Given the description of an element on the screen output the (x, y) to click on. 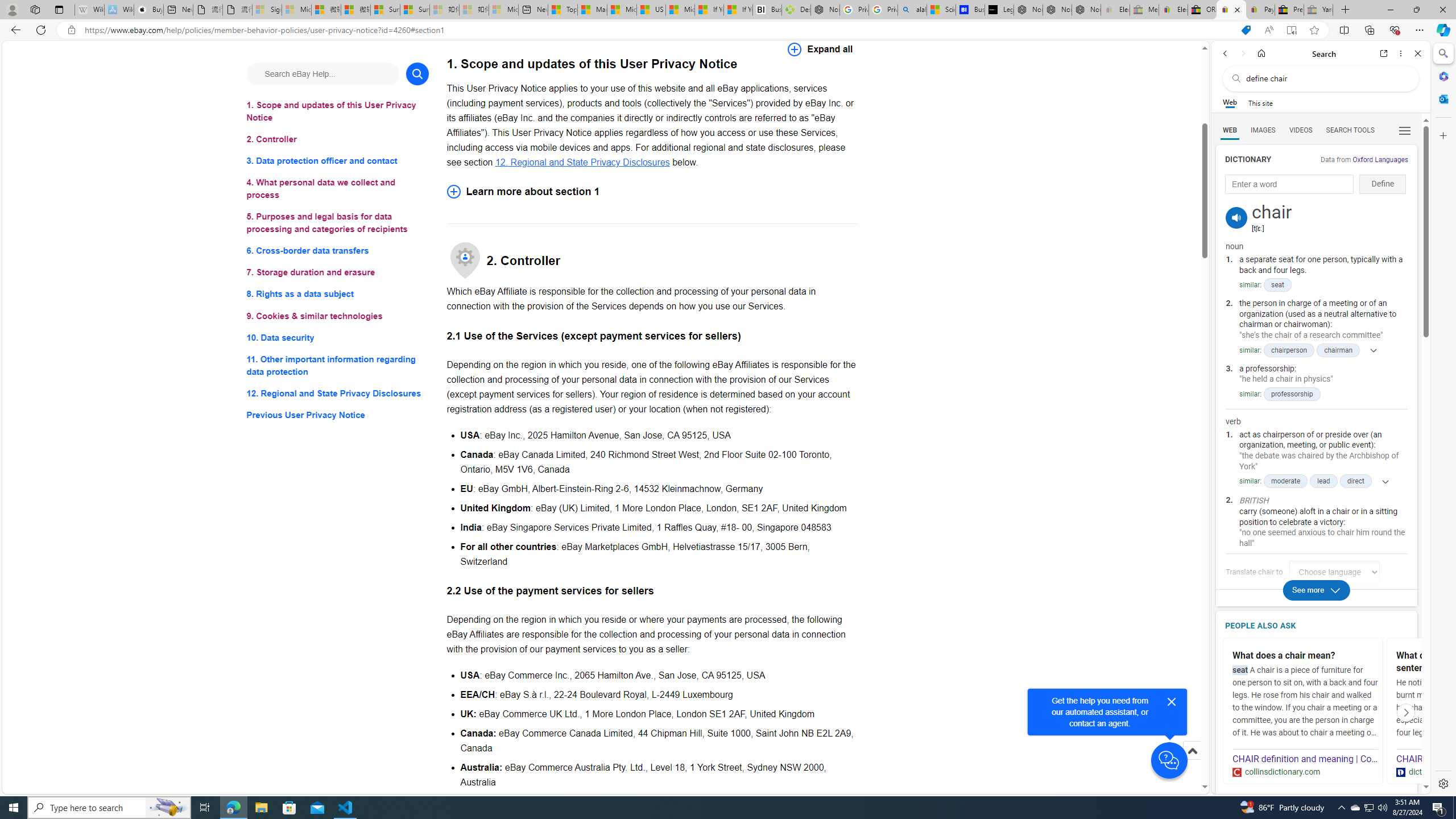
11. Other important information regarding data protection (337, 365)
Show more (1381, 480)
